Given the description of an element on the screen output the (x, y) to click on. 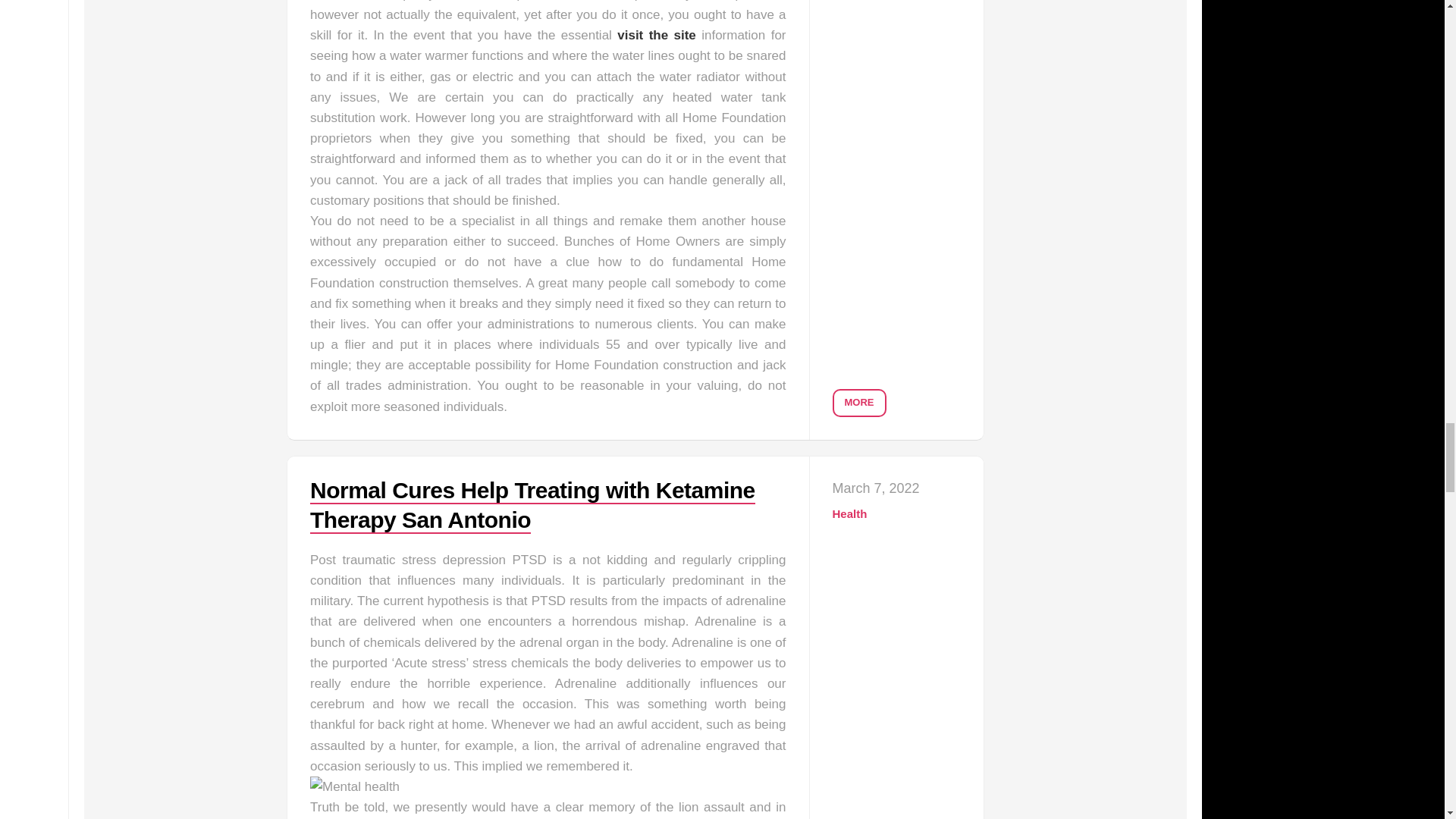
Health (849, 513)
Normal Cures Help Treating with Ketamine Therapy San Antonio (532, 504)
MORE (859, 402)
visit the site (656, 34)
